Given the description of an element on the screen output the (x, y) to click on. 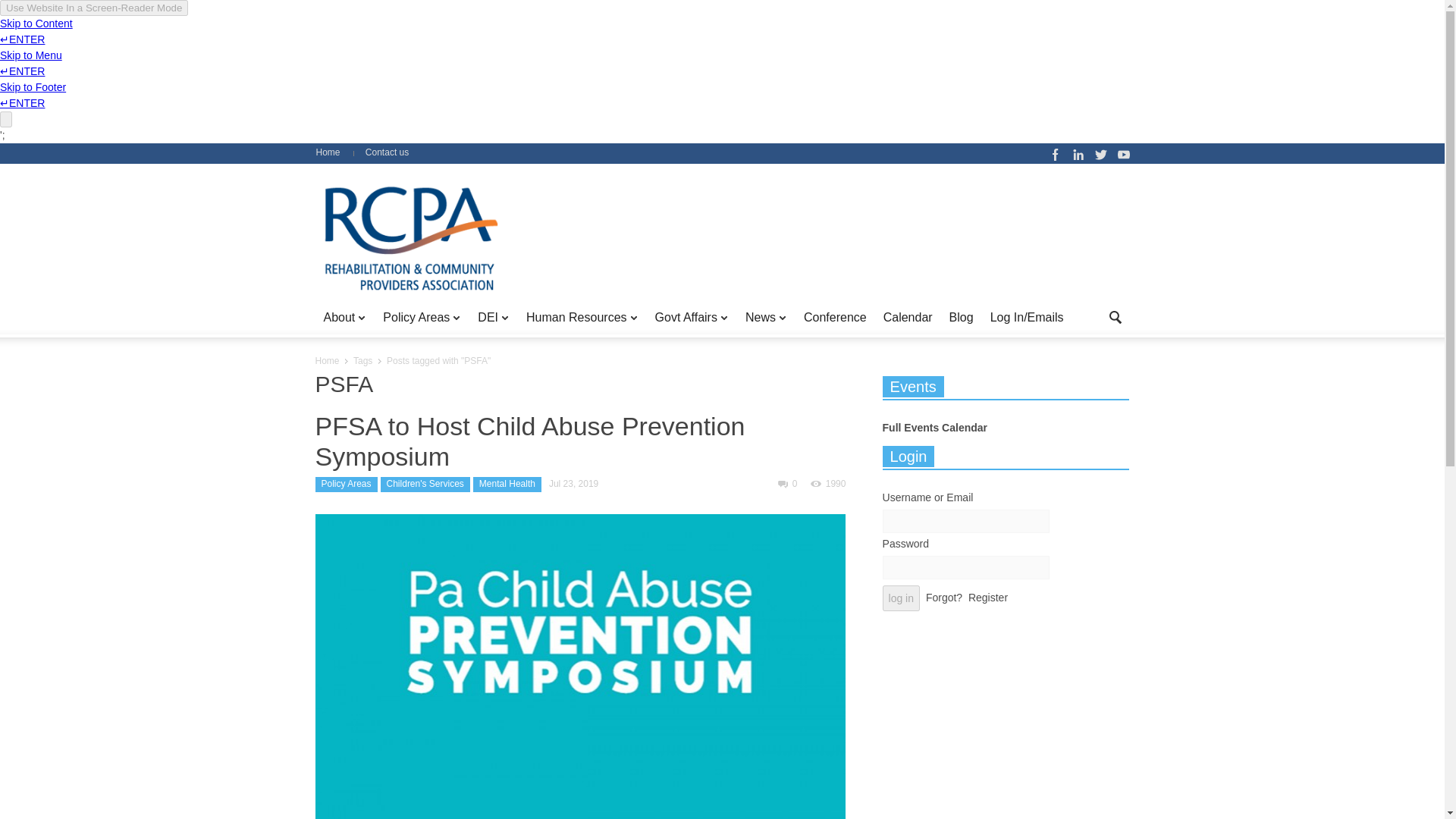
Home (332, 152)
log in (901, 597)
Contact us (386, 152)
